Given the description of an element on the screen output the (x, y) to click on. 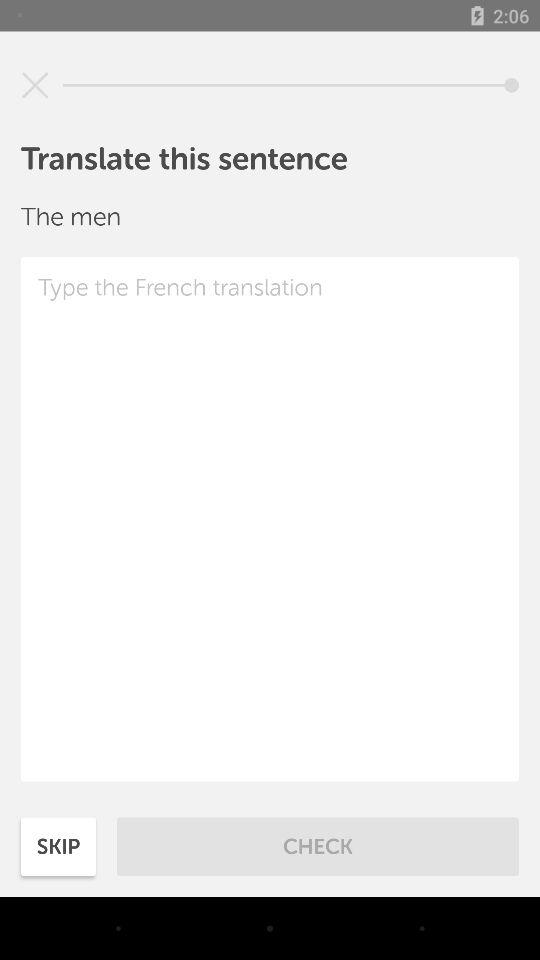
select skip at the bottom left corner (58, 846)
